Given the description of an element on the screen output the (x, y) to click on. 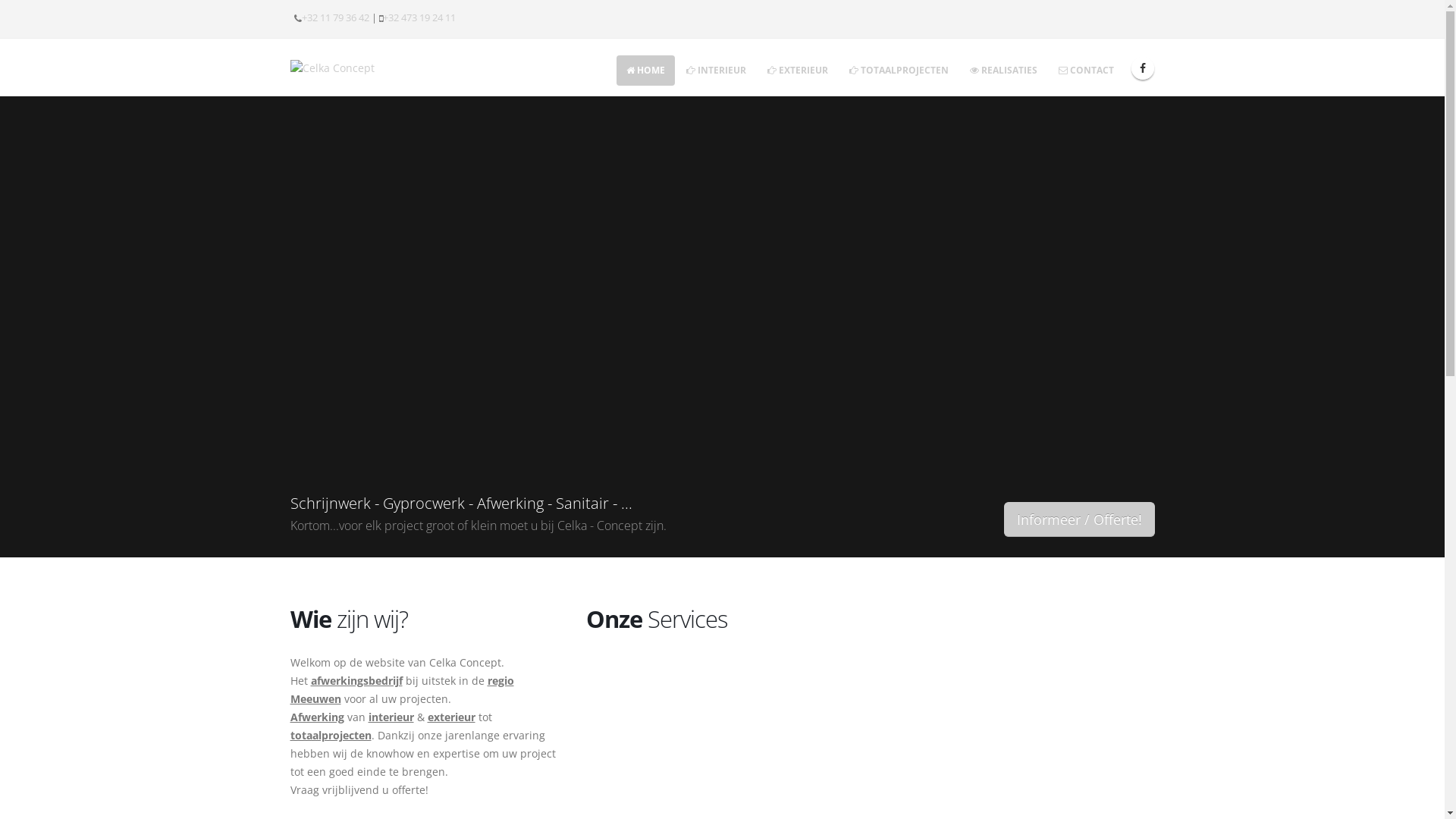
TOTAALPROJECTEN Element type: text (897, 70)
EXTERIEUR Element type: text (796, 70)
Informeer / Offerte! Element type: text (1079, 519)
+32 11 79 36 42 Element type: text (335, 17)
Facebook Element type: hover (1142, 67)
CONTACT Element type: text (1085, 70)
+32 473 19 24 11 Element type: text (418, 17)
INTERIEUR Element type: text (716, 70)
HOME Element type: text (644, 70)
REALISATIES Element type: text (1003, 70)
